Given the description of an element on the screen output the (x, y) to click on. 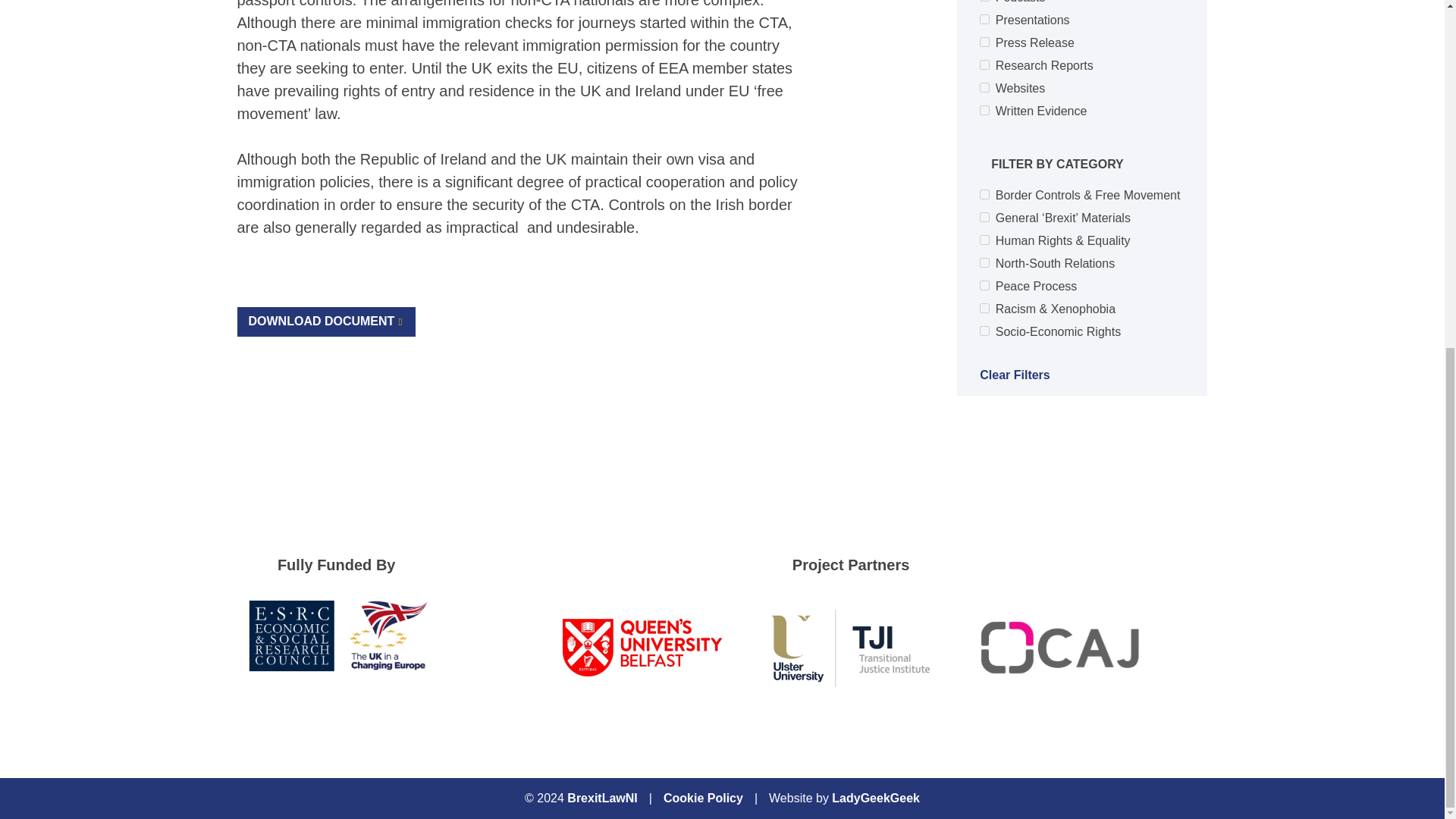
BrexitLawNI (602, 797)
Cookie Policy (702, 797)
websites (984, 87)
BrexitLawNI (602, 797)
presentations (984, 19)
LadyGeekGeek (875, 797)
research-reports (984, 64)
DOWNLOAD DOCUMENT (324, 321)
press-release (984, 41)
LadyGeekGeek Web Design Belfast (875, 797)
Clear Filters (1082, 380)
